Given the description of an element on the screen output the (x, y) to click on. 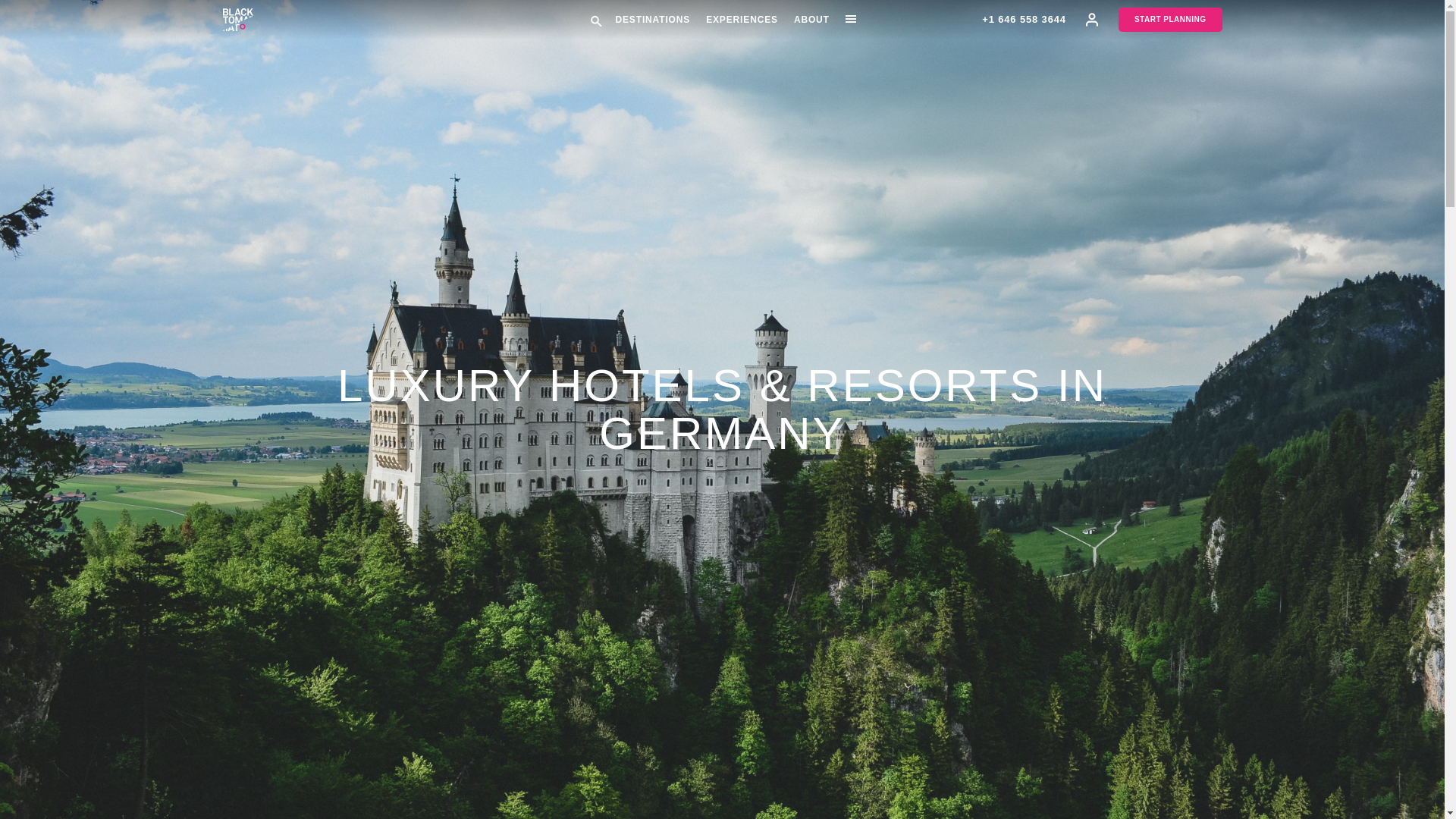
experiences (741, 19)
destinations (652, 19)
about (810, 19)
